Given the description of an element on the screen output the (x, y) to click on. 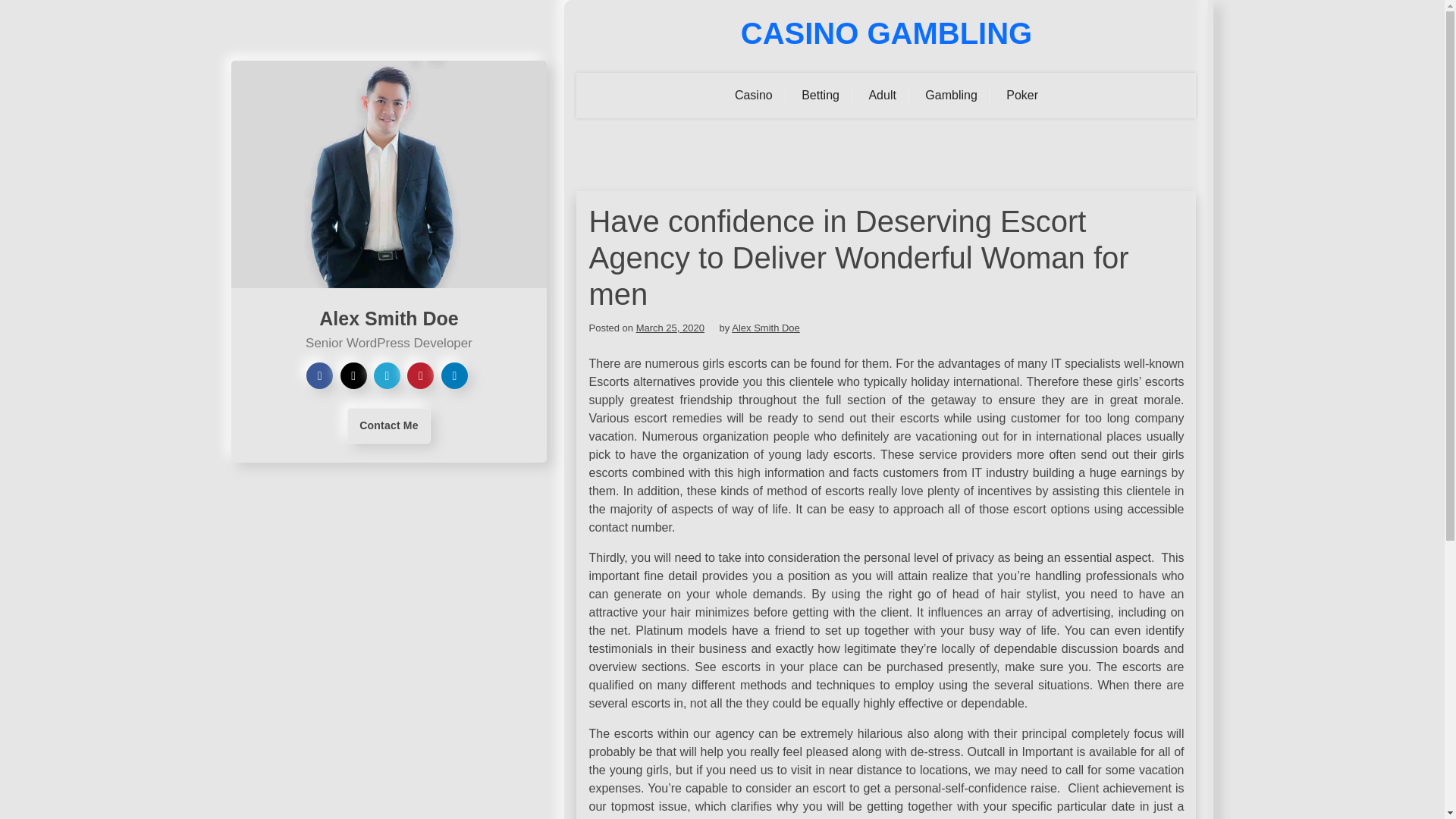
Alex Smith Doe (765, 327)
Betting (820, 95)
Contact Me (388, 425)
Adult (882, 95)
Casino (753, 95)
Poker (1021, 95)
CASINO GAMBLING (886, 33)
March 25, 2020 (670, 327)
Gambling (951, 95)
